Given the description of an element on the screen output the (x, y) to click on. 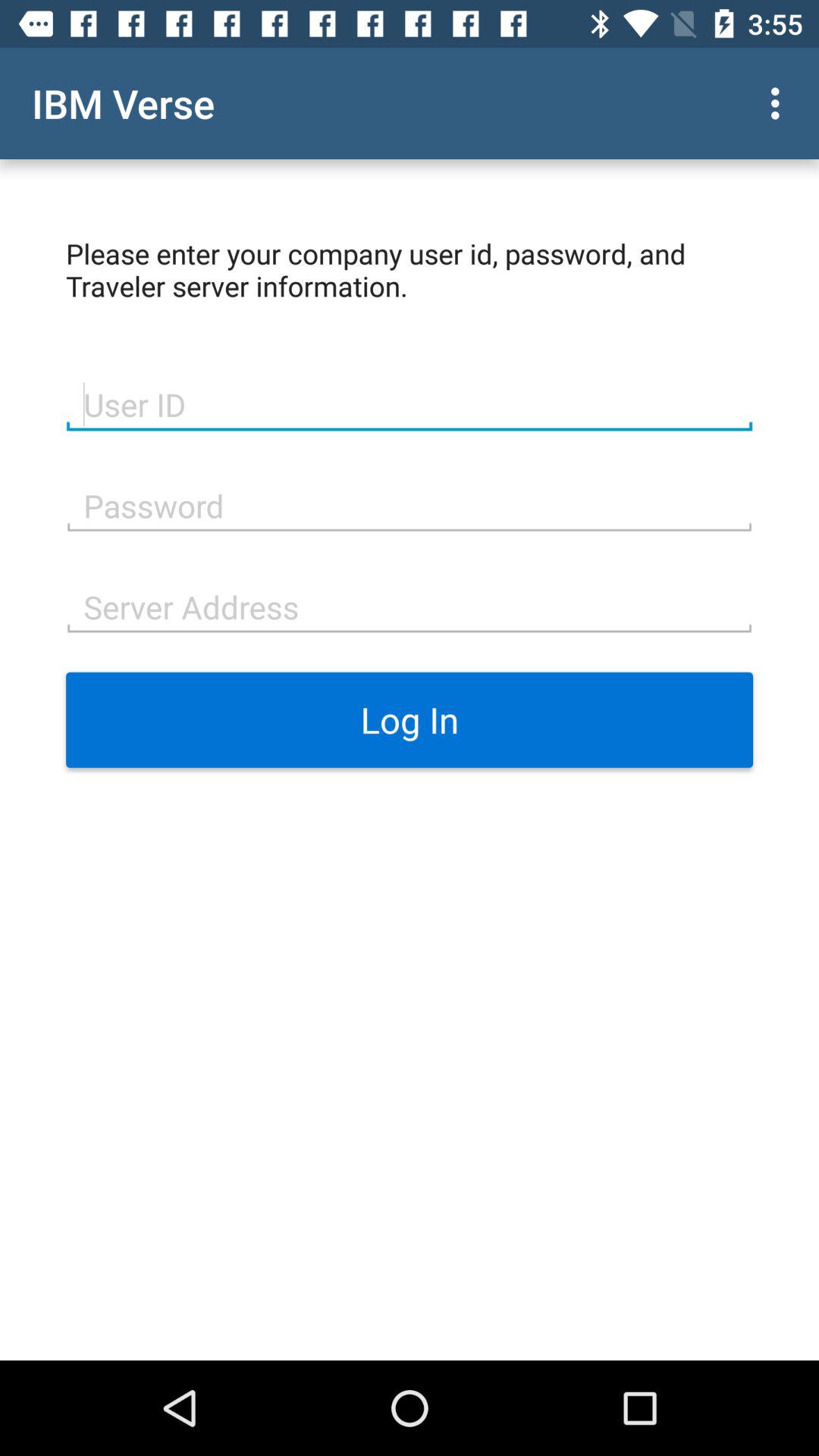
jump until the log in item (409, 719)
